Given the description of an element on the screen output the (x, y) to click on. 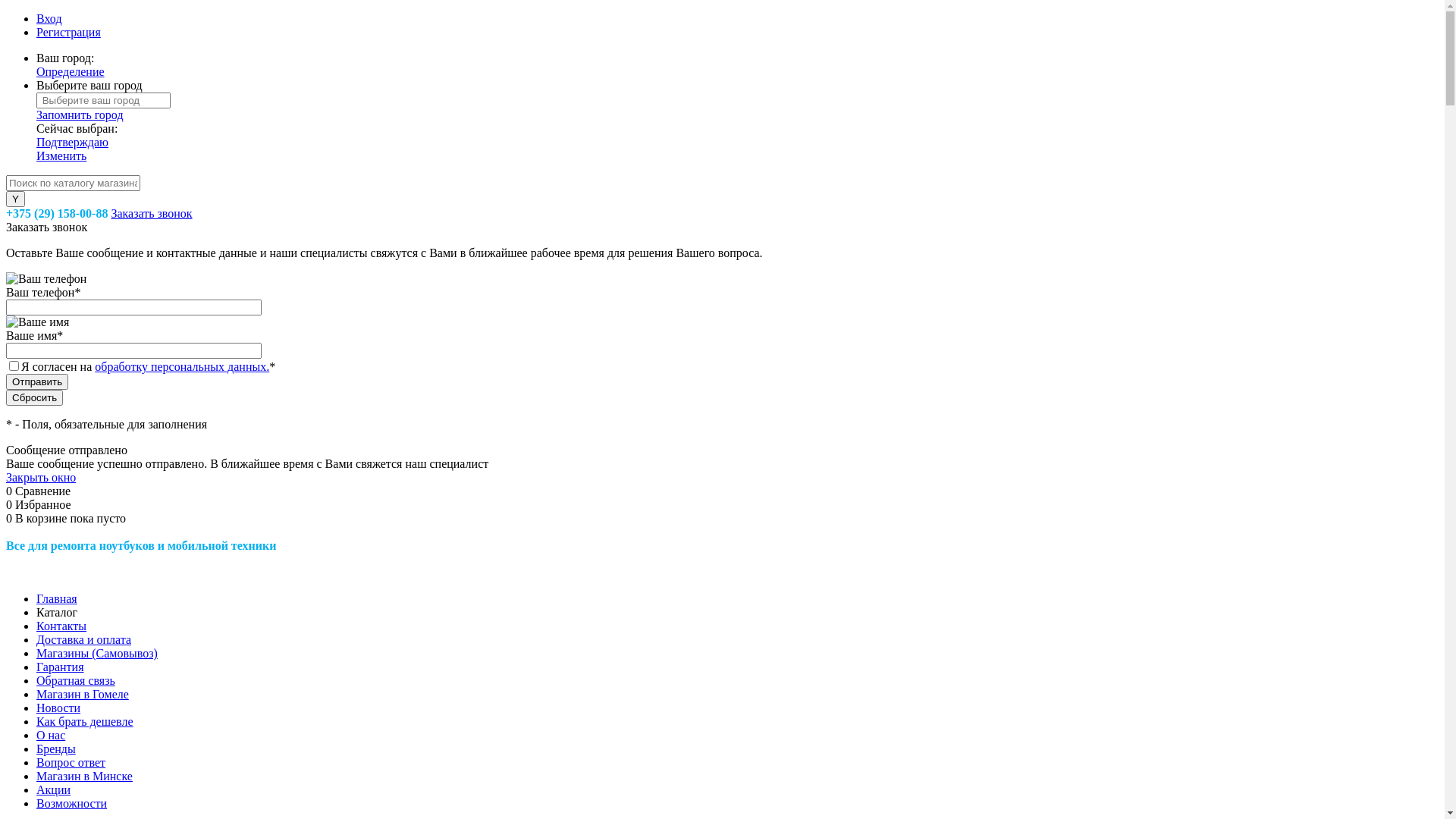
0 Element type: text (10, 490)
0 Element type: text (10, 517)
Y Element type: text (15, 199)
0 Element type: text (10, 504)
